Given the description of an element on the screen output the (x, y) to click on. 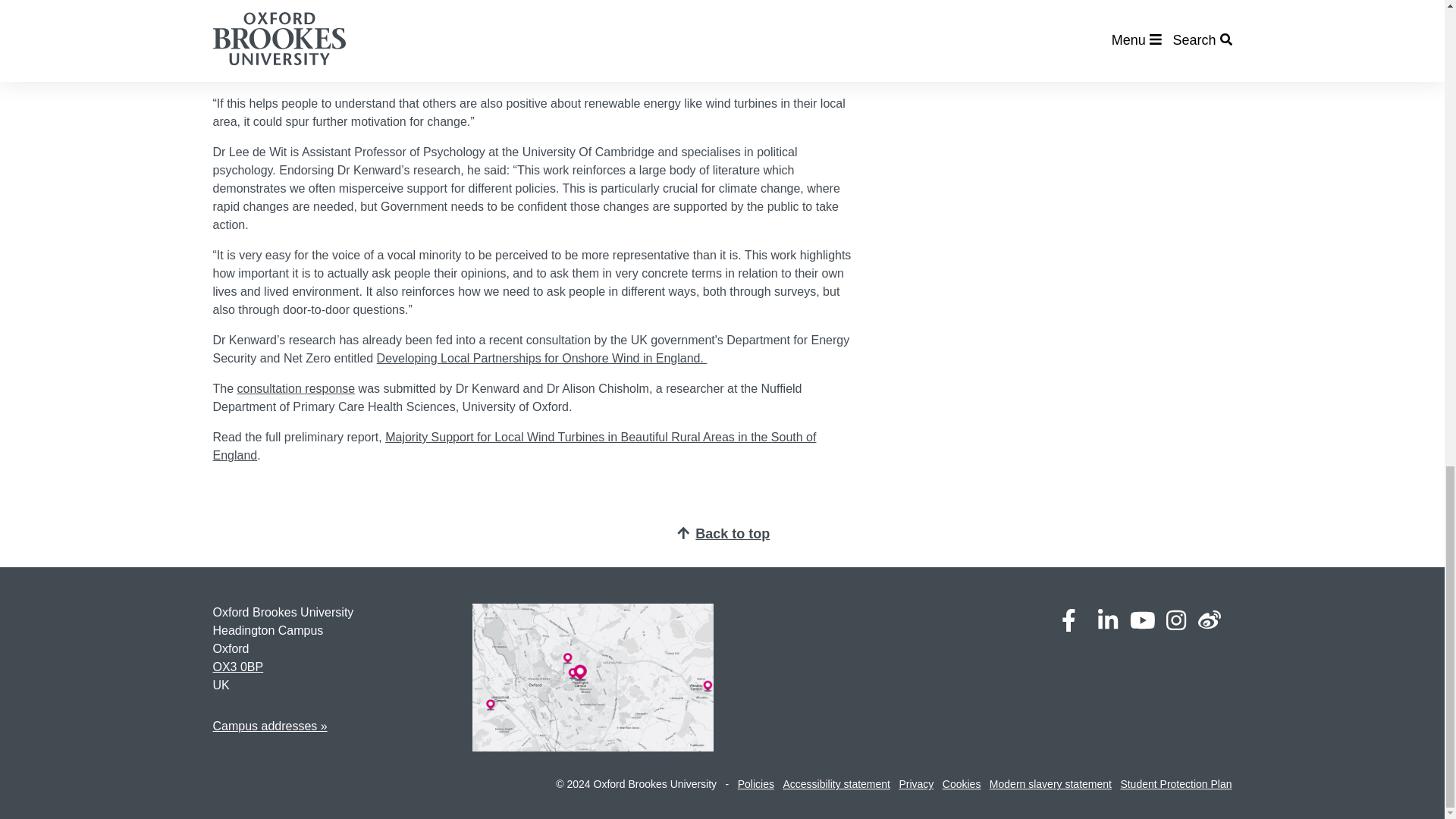
Facebook (1068, 620)
Youtube (1142, 620)
Weibo (1209, 620)
Campus Addresses (269, 725)
Weibo (1209, 620)
Instagram (1176, 620)
Instagram (1176, 620)
LinkedIn (1107, 620)
Facebook (1068, 620)
LinkedIn (1107, 620)
Weibo (1209, 620)
Youtube (1142, 620)
Instagram (1176, 620)
LinkedIn (1107, 620)
Facebook (1068, 620)
